Given the description of an element on the screen output the (x, y) to click on. 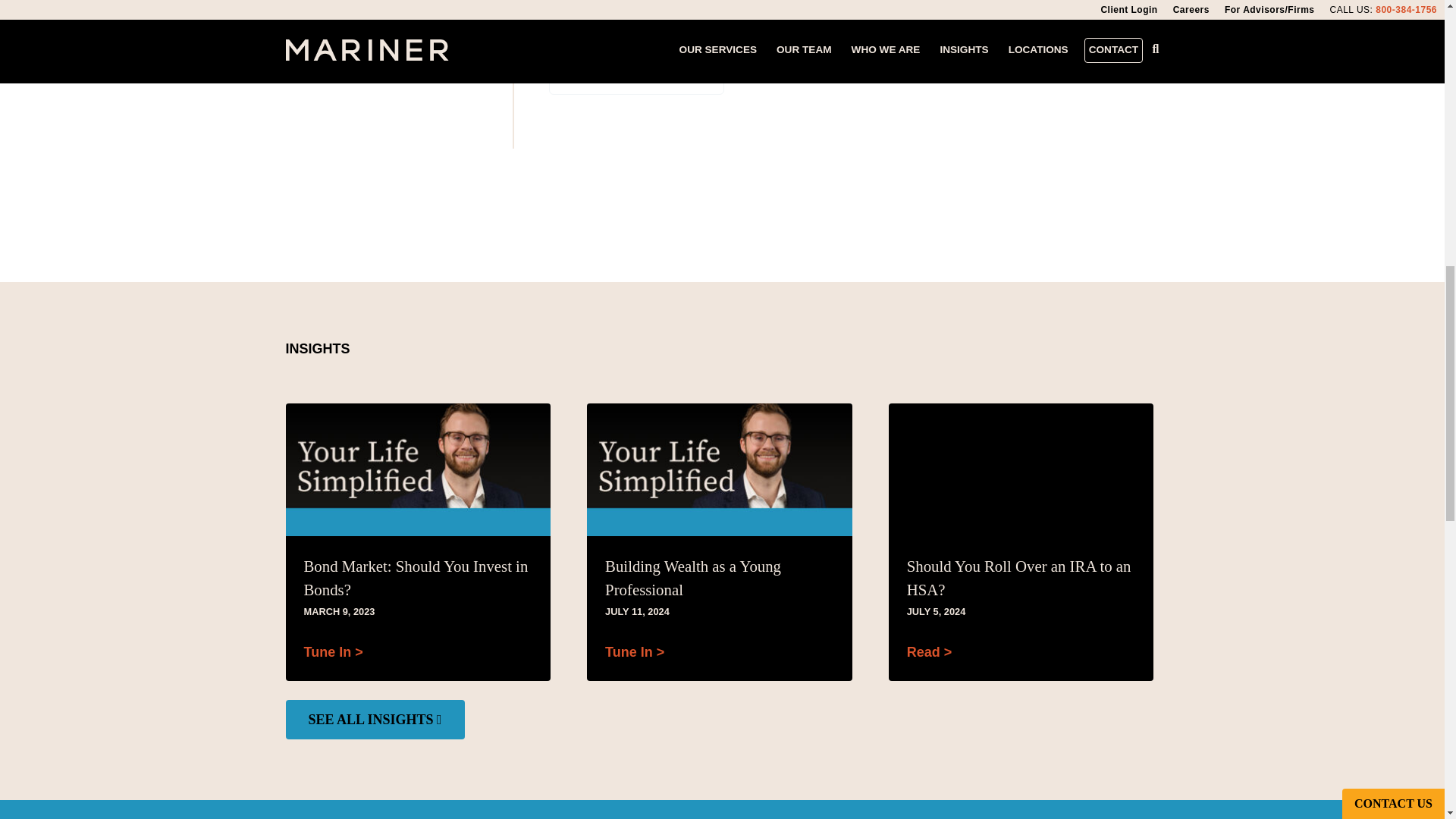
872-216-9931 (636, 72)
Bond Market: Should You Invest in Bonds? (417, 577)
